Given the description of an element on the screen output the (x, y) to click on. 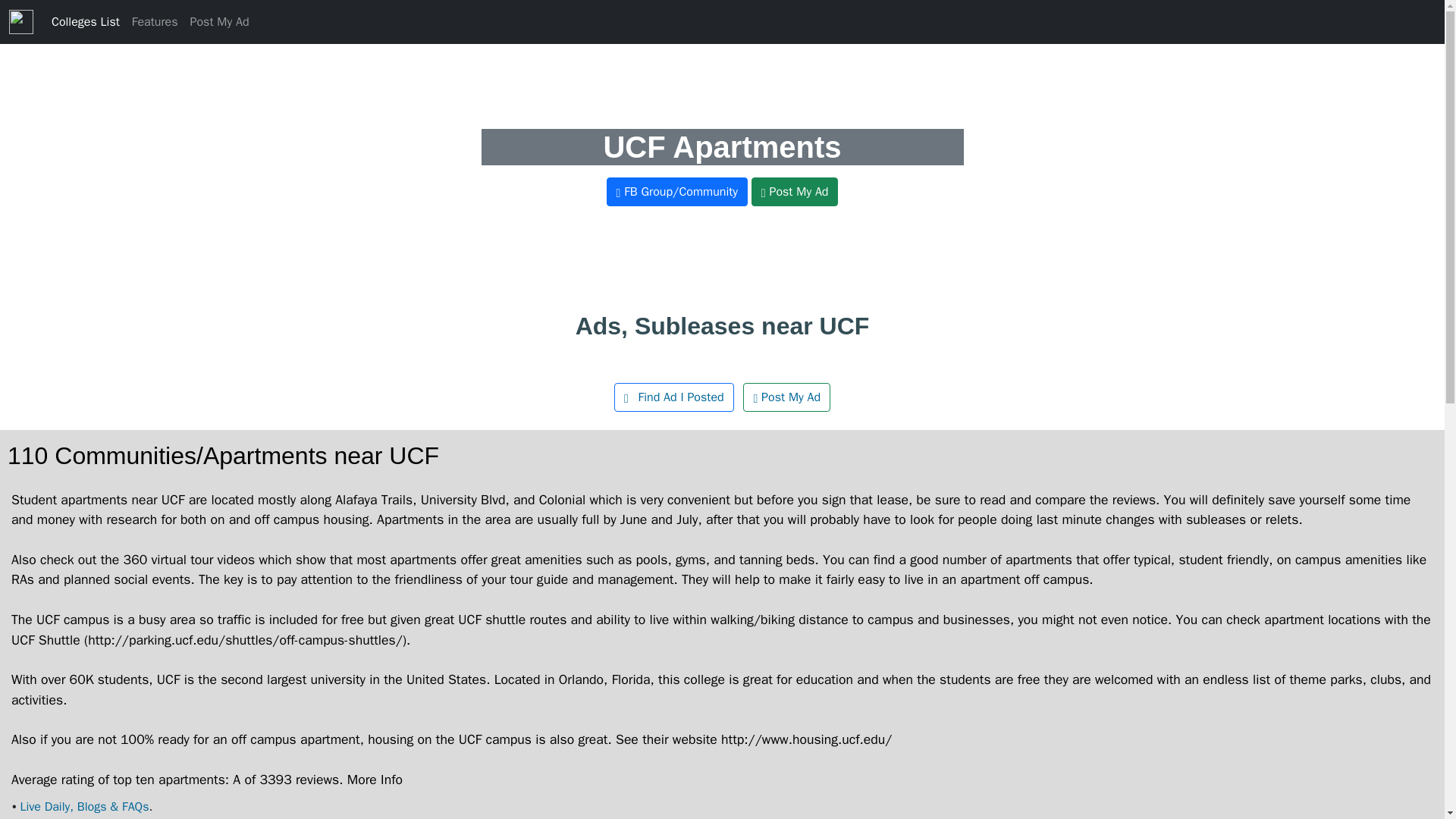
Features (154, 21)
Post My Ad (218, 21)
Post My Ad (794, 191)
More Info (375, 779)
Find Ad I Posted (673, 397)
Post My Ad (785, 397)
Colleges List (85, 21)
